Given the description of an element on the screen output the (x, y) to click on. 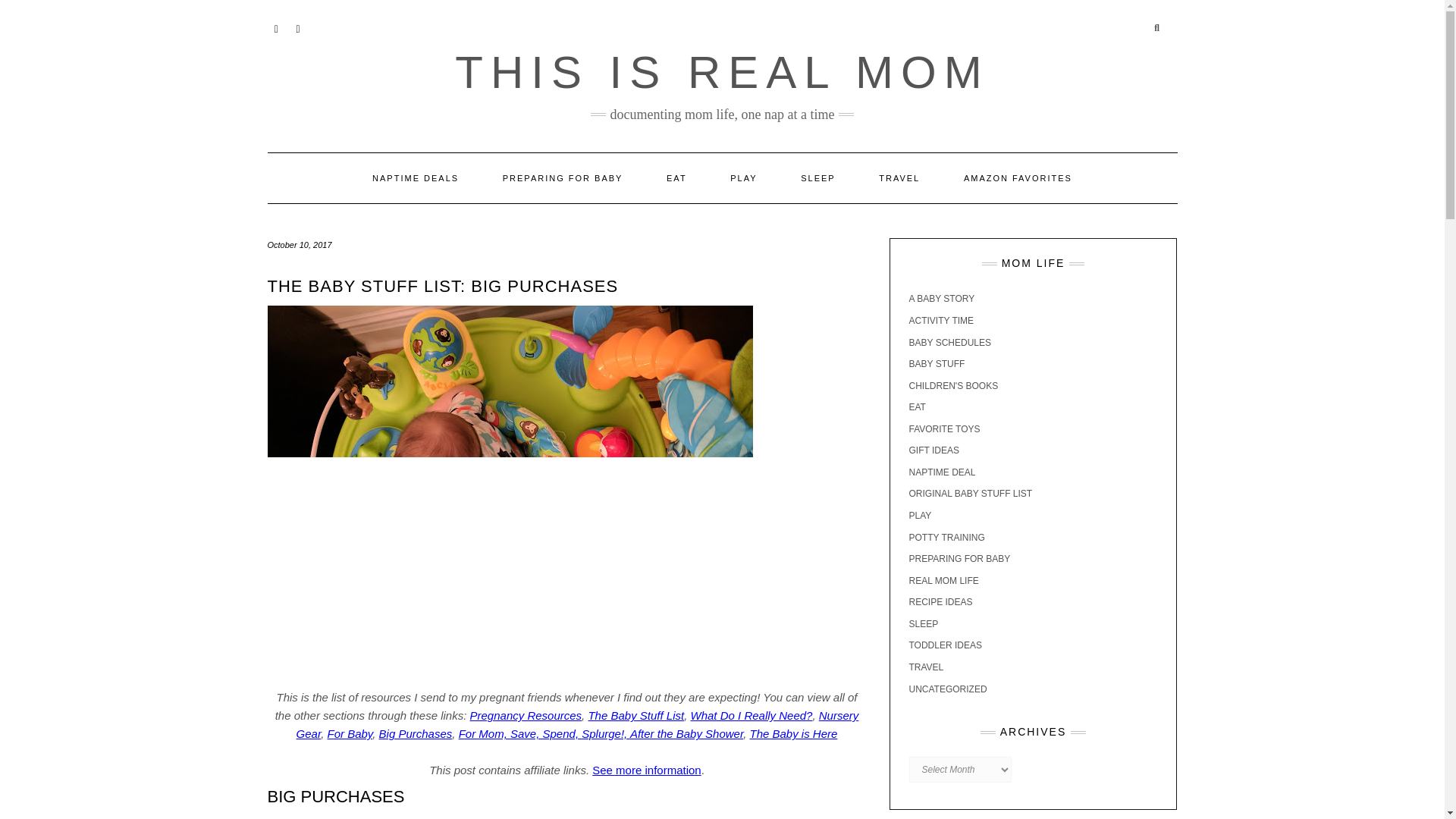
The Baby is Here (793, 733)
Pregnancy Resources (526, 715)
NAPTIME DEALS (415, 178)
After the Baby Shower (686, 733)
SLEEP (818, 178)
Britax B-Agile Travel System (766, 817)
Big Purchases (415, 733)
FACEBOOK (297, 27)
What Do I Really Need? (751, 715)
EAT (676, 178)
